Given the description of an element on the screen output the (x, y) to click on. 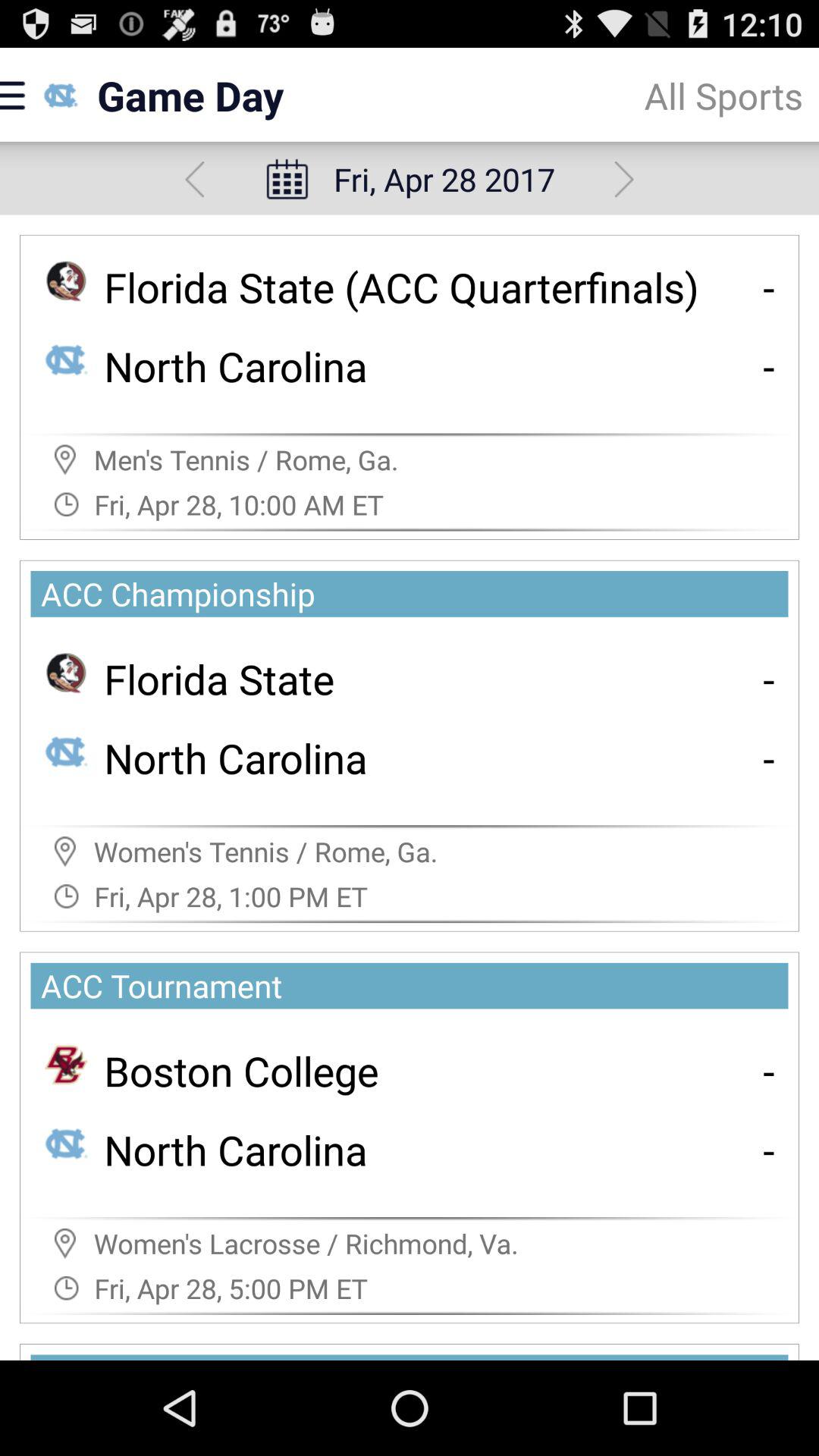
tap icon below the all sports item (623, 178)
